Given the description of an element on the screen output the (x, y) to click on. 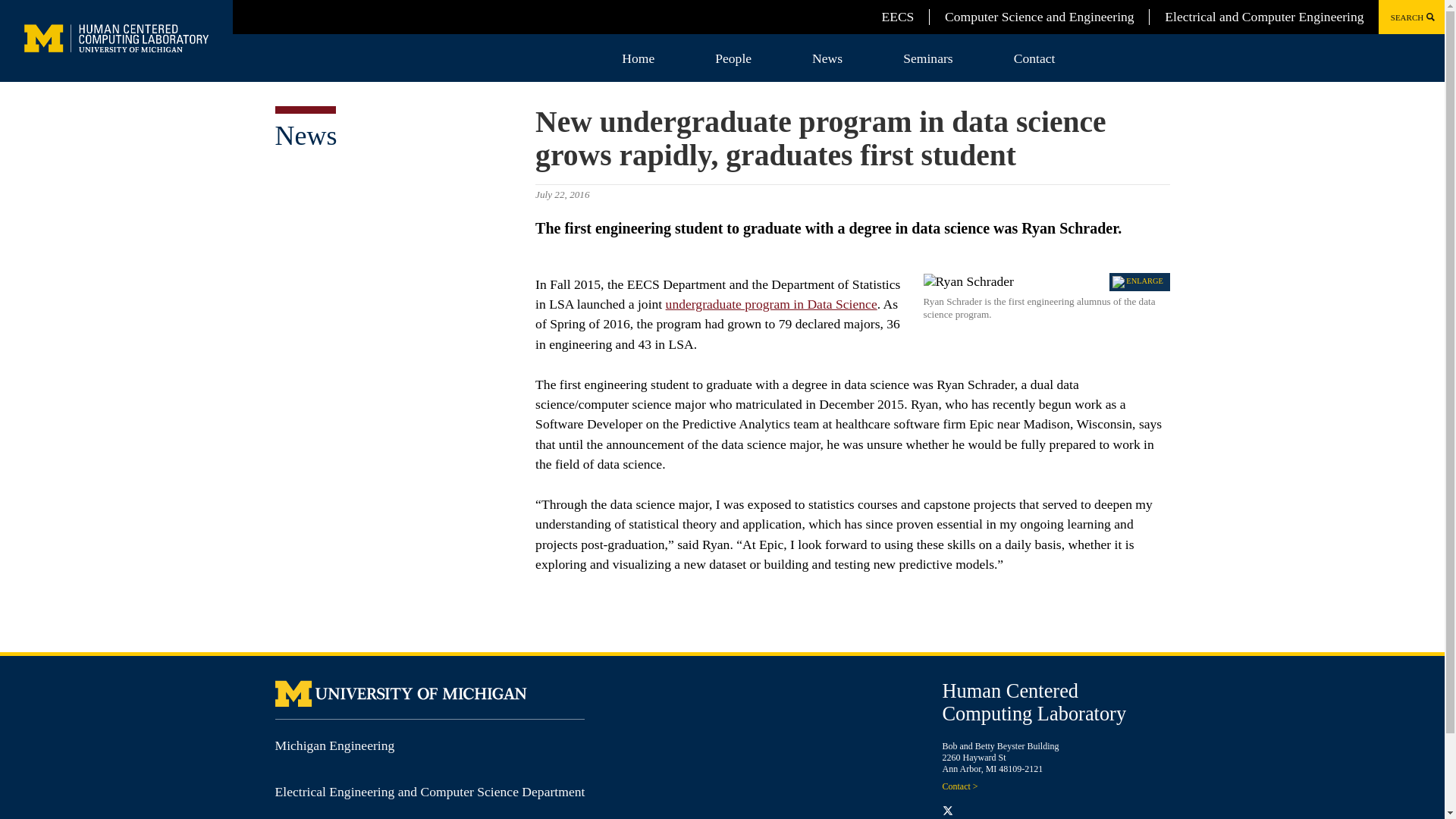
Michigan Engineering (334, 744)
News (826, 57)
undergraduate program in Data Science (771, 304)
Electrical Engineering and Computer Science Department (430, 791)
Seminars (927, 57)
People (732, 57)
Human Centered Computing Laboratory (1033, 701)
Electrical and Computer Engineering (1263, 16)
Home (638, 57)
Computer Science and Engineering (1039, 16)
EECS (897, 16)
News (305, 135)
Contact (1034, 57)
